Given the description of an element on the screen output the (x, y) to click on. 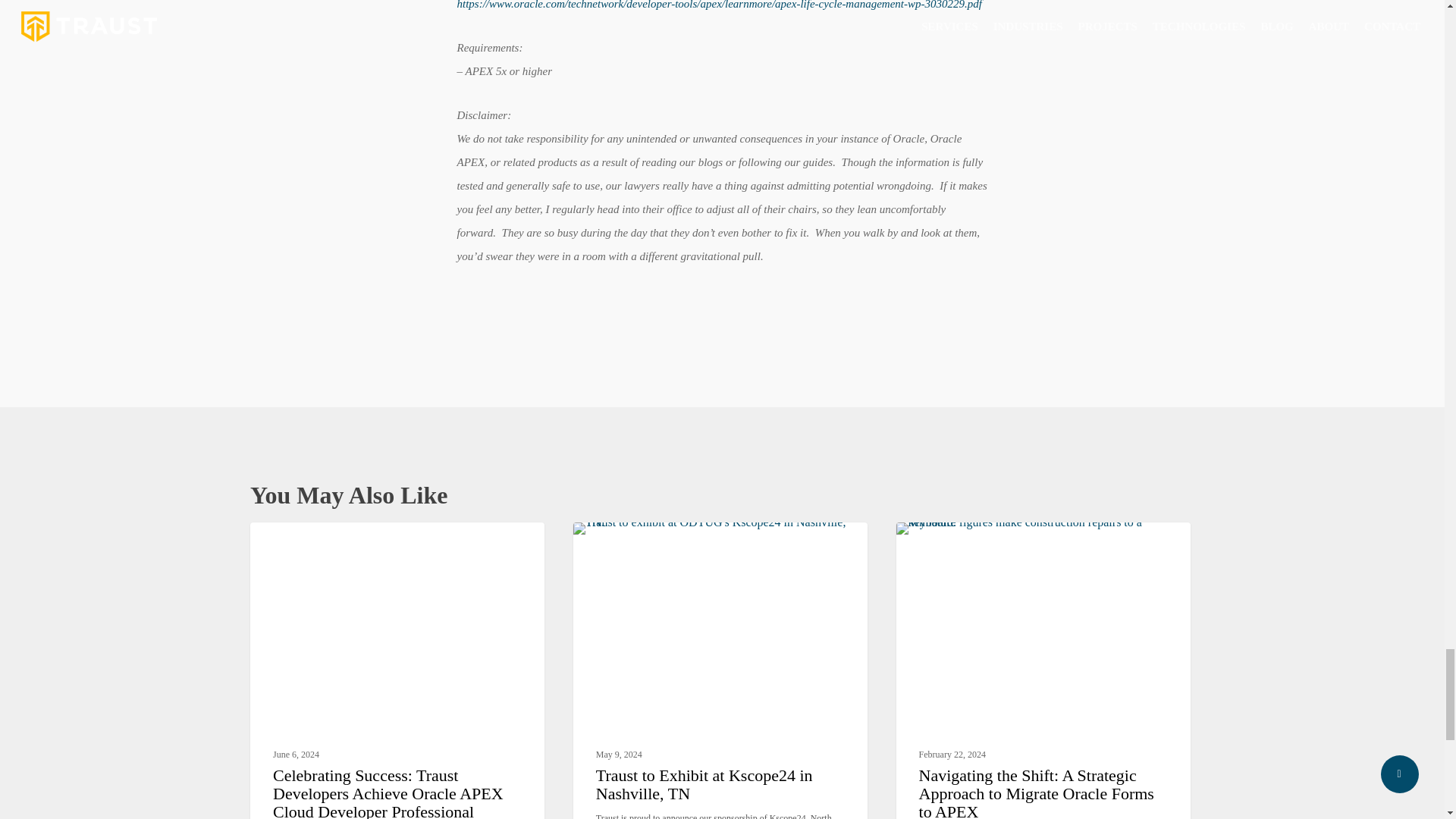
APEX (287, 546)
